Given the description of an element on the screen output the (x, y) to click on. 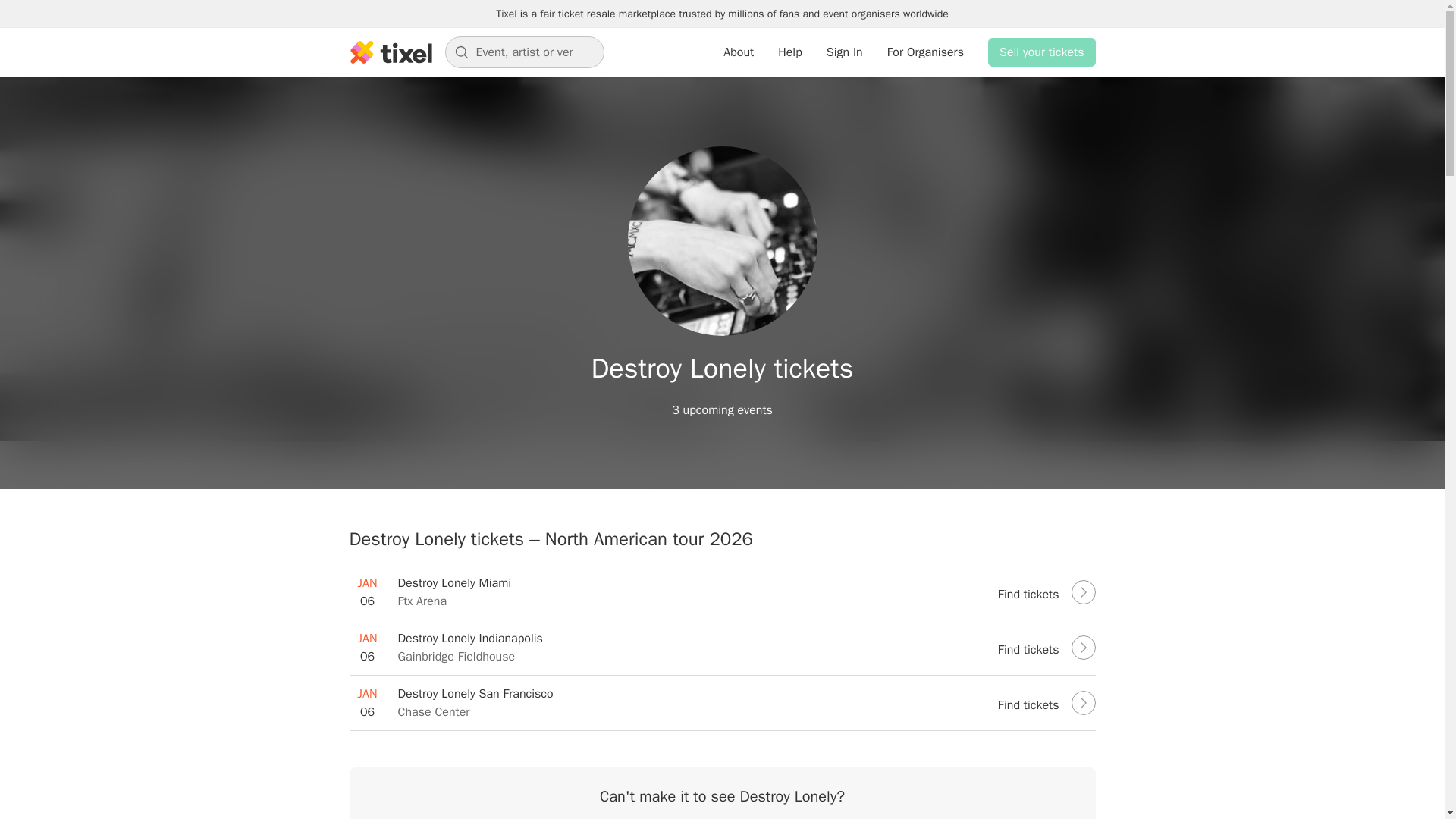
Help (789, 52)
Sign In (845, 52)
Sell your tickets (721, 592)
About (1042, 51)
For Organisers (738, 52)
